Given the description of an element on the screen output the (x, y) to click on. 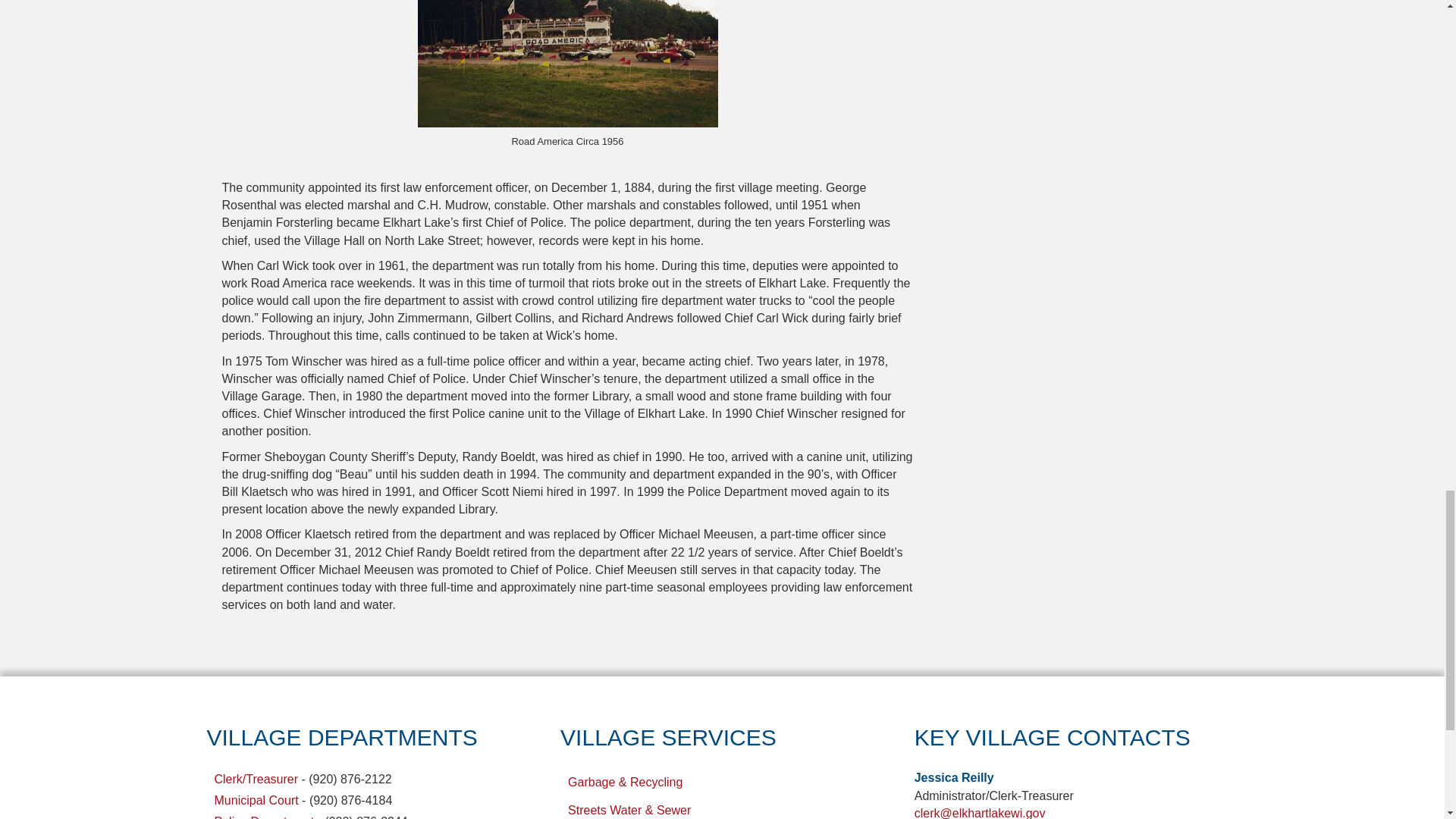
Road America Circa 1956 (566, 63)
